Given the description of an element on the screen output the (x, y) to click on. 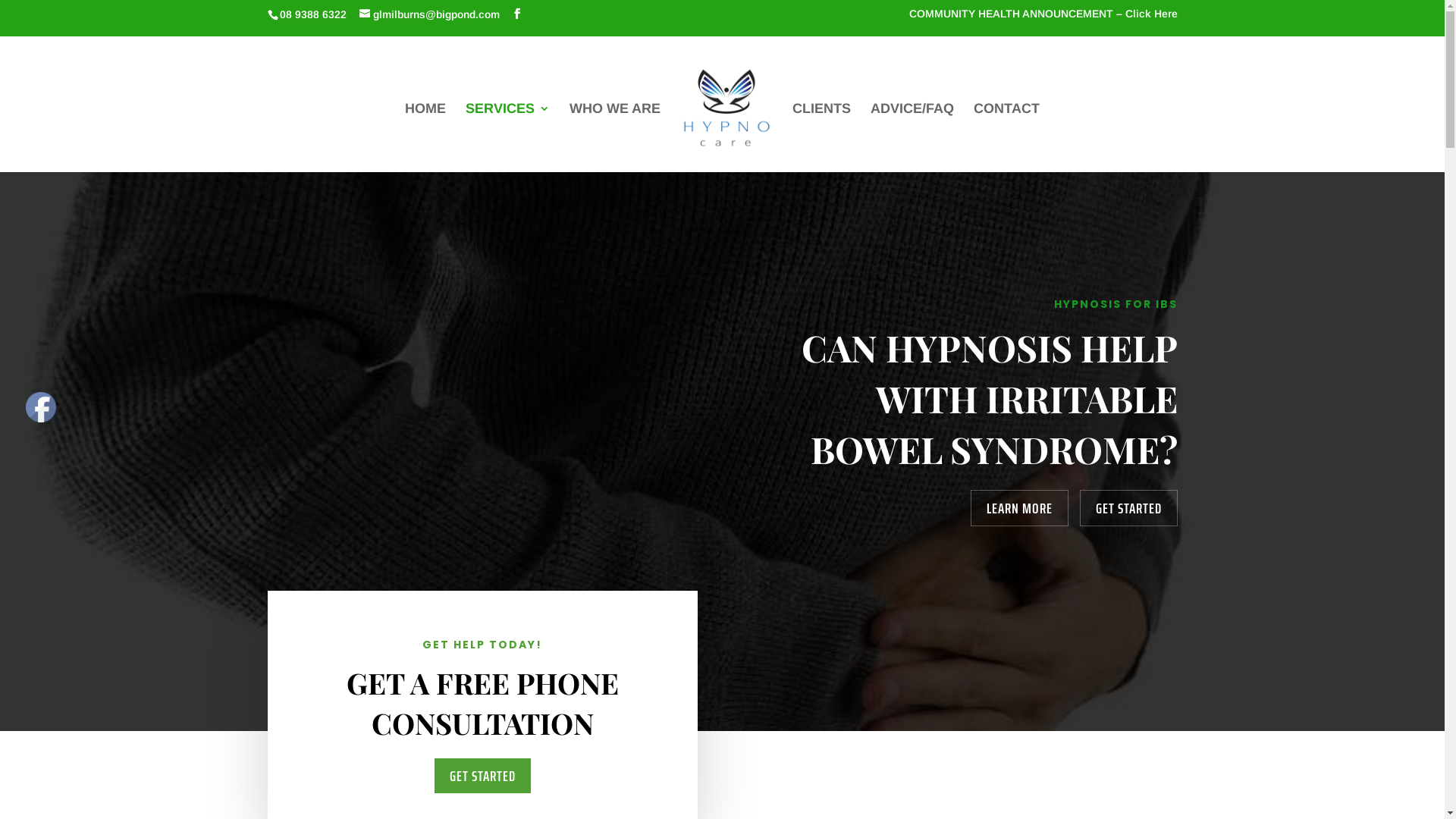
CLIENTS Element type: text (821, 133)
LEARN MORE Element type: text (1019, 507)
08 9388 6322 Element type: text (312, 13)
CONTACT Element type: text (1006, 133)
WHO WE ARE Element type: text (614, 133)
glmilburns@bigpond.com Element type: text (429, 13)
GET STARTED Element type: text (1128, 507)
SERVICES Element type: text (507, 133)
Facebook Element type: hover (40, 407)
ADVICE/FAQ Element type: text (911, 133)
HOME Element type: text (424, 133)
GET STARTED Element type: text (481, 775)
